Given the description of an element on the screen output the (x, y) to click on. 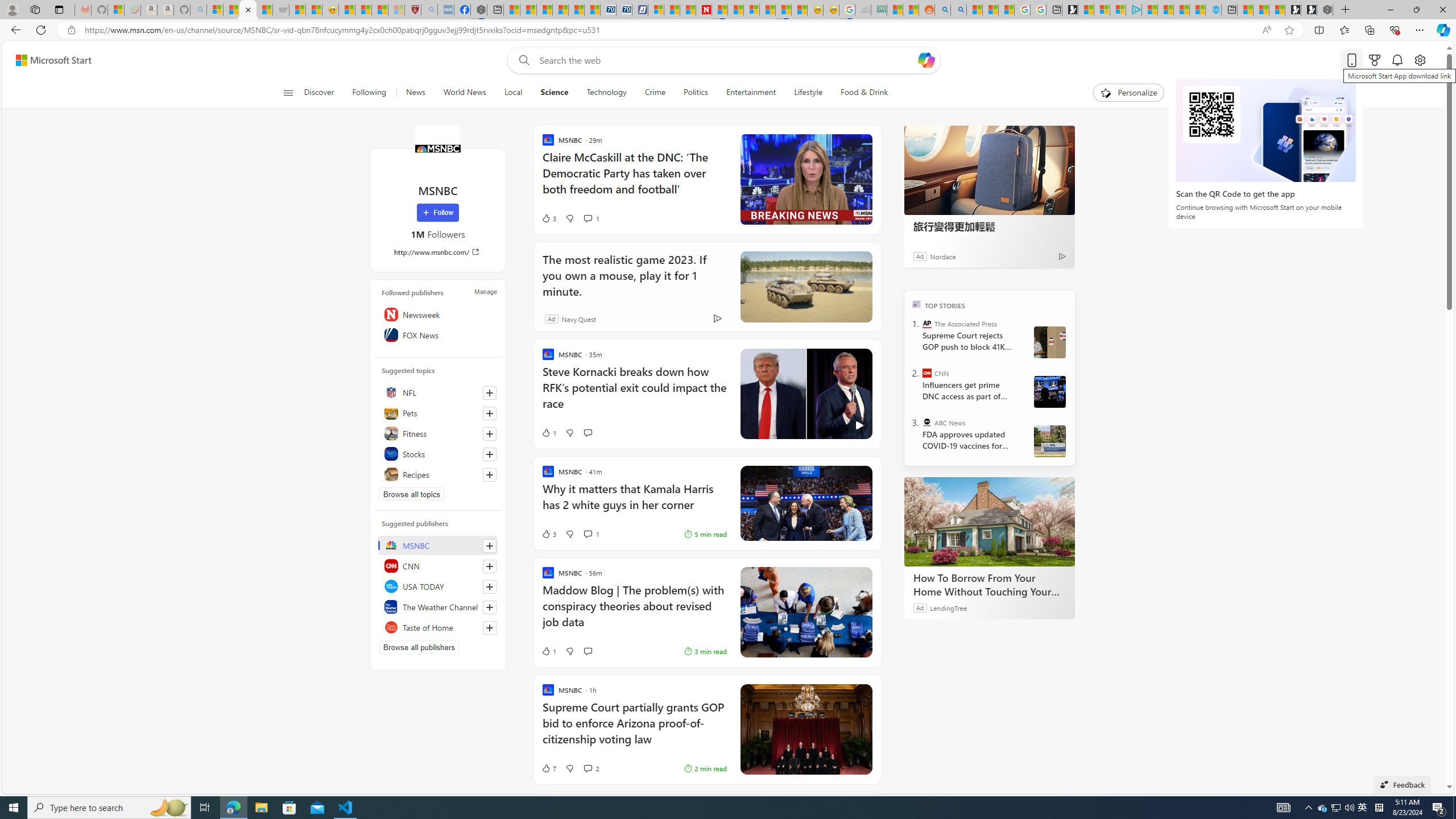
Manage (485, 291)
Robert H. Shmerling, MD - Harvard Health (413, 9)
Cheap Hotels - Save70.com (624, 9)
Food & Drink (859, 92)
Utah sues federal government - Search (958, 9)
Newsweek (437, 314)
